Given the description of an element on the screen output the (x, y) to click on. 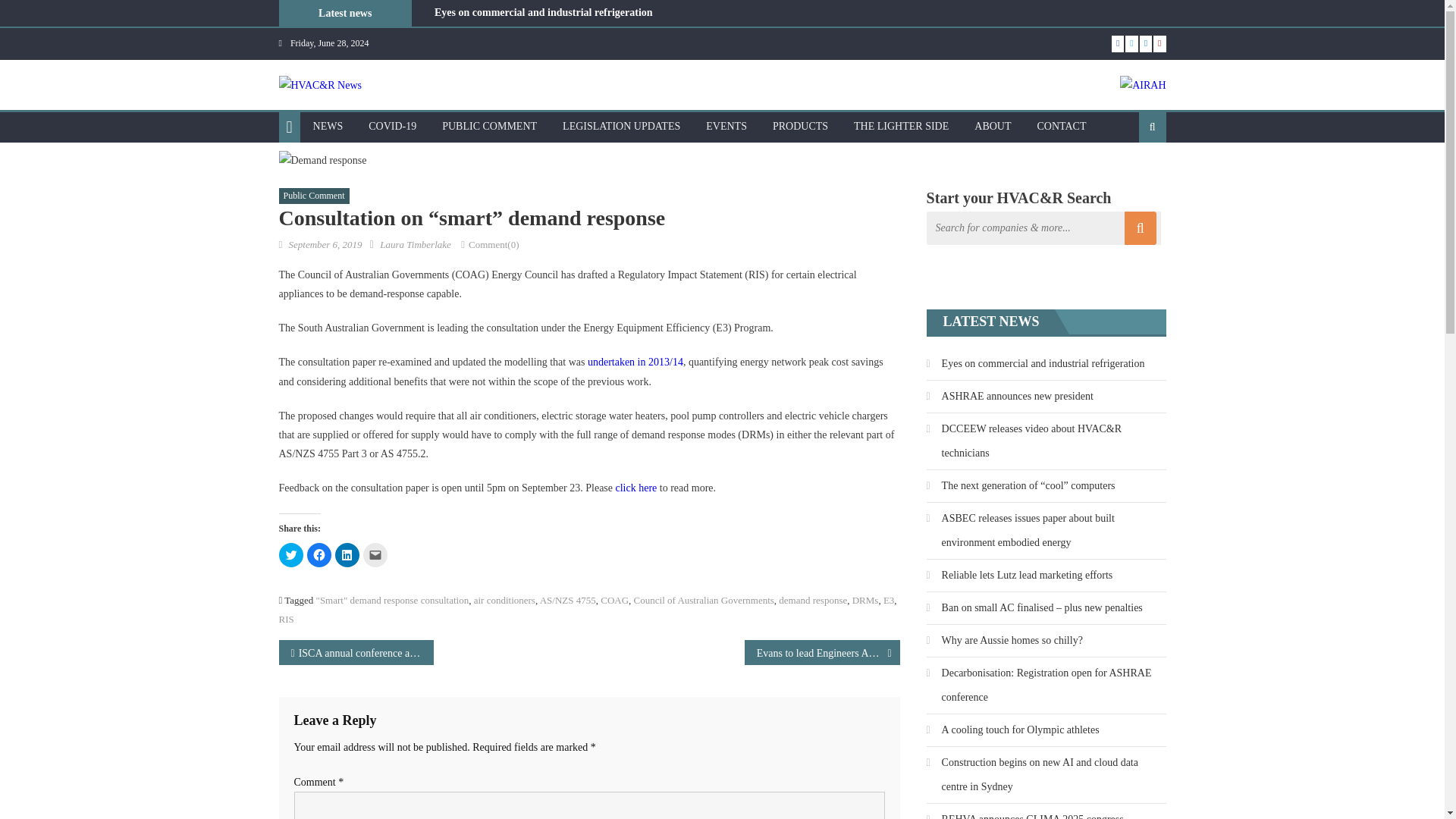
PUBLIC COMMENT (489, 126)
COVID-19 (392, 126)
Council of Australian Governments (703, 600)
Click to share on Twitter (290, 554)
Search (1128, 176)
Click to share on Facebook (317, 554)
COAG (613, 600)
Laura Timberlake (415, 244)
Eyes on commercial and industrial refrigeration (542, 12)
ASHRAE announces new president (514, 30)
